Given the description of an element on the screen output the (x, y) to click on. 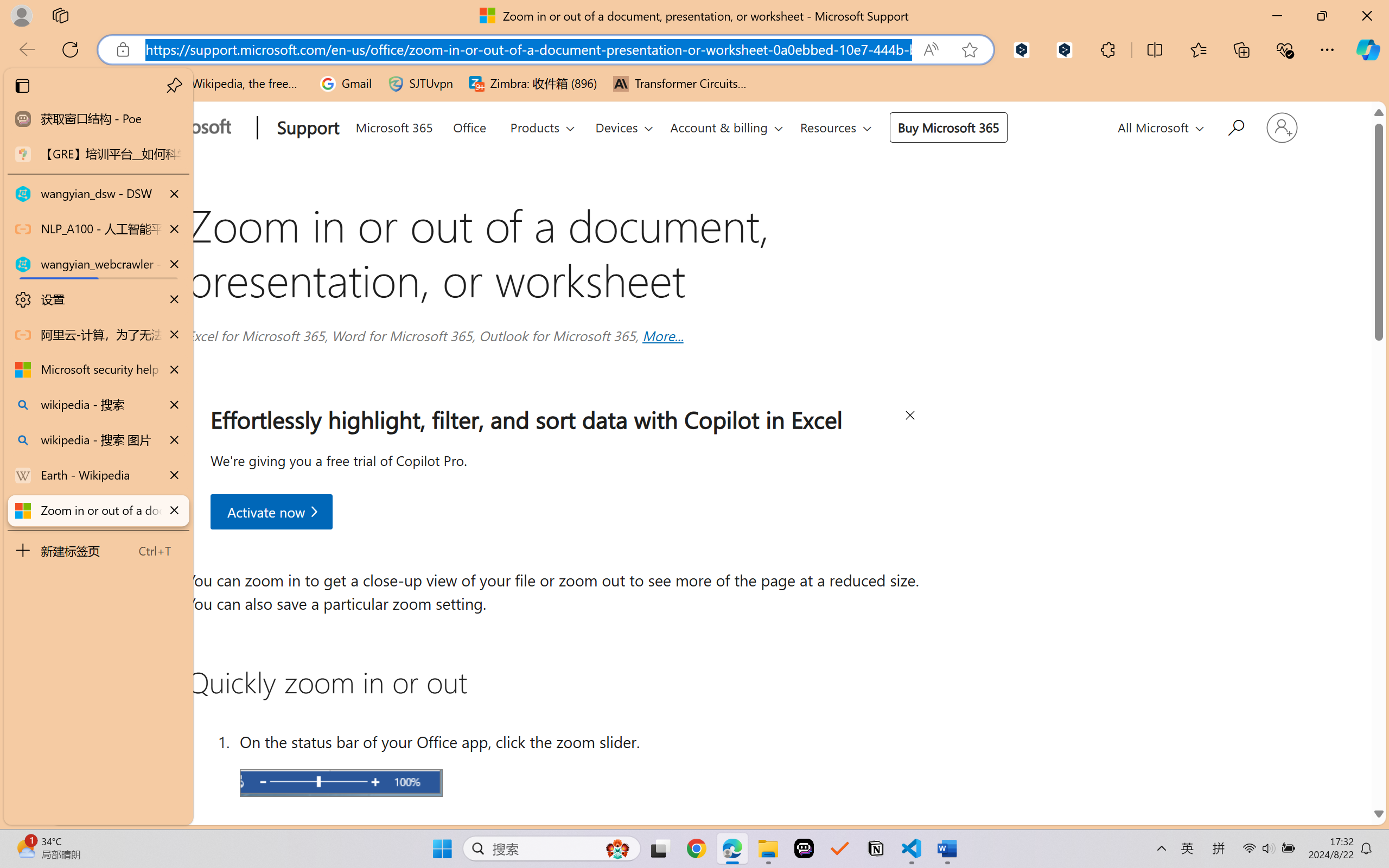
Microsoft 365 (394, 125)
Buy Microsoft 365 (947, 126)
wangyian_dsw - DSW (97, 194)
